Given the description of an element on the screen output the (x, y) to click on. 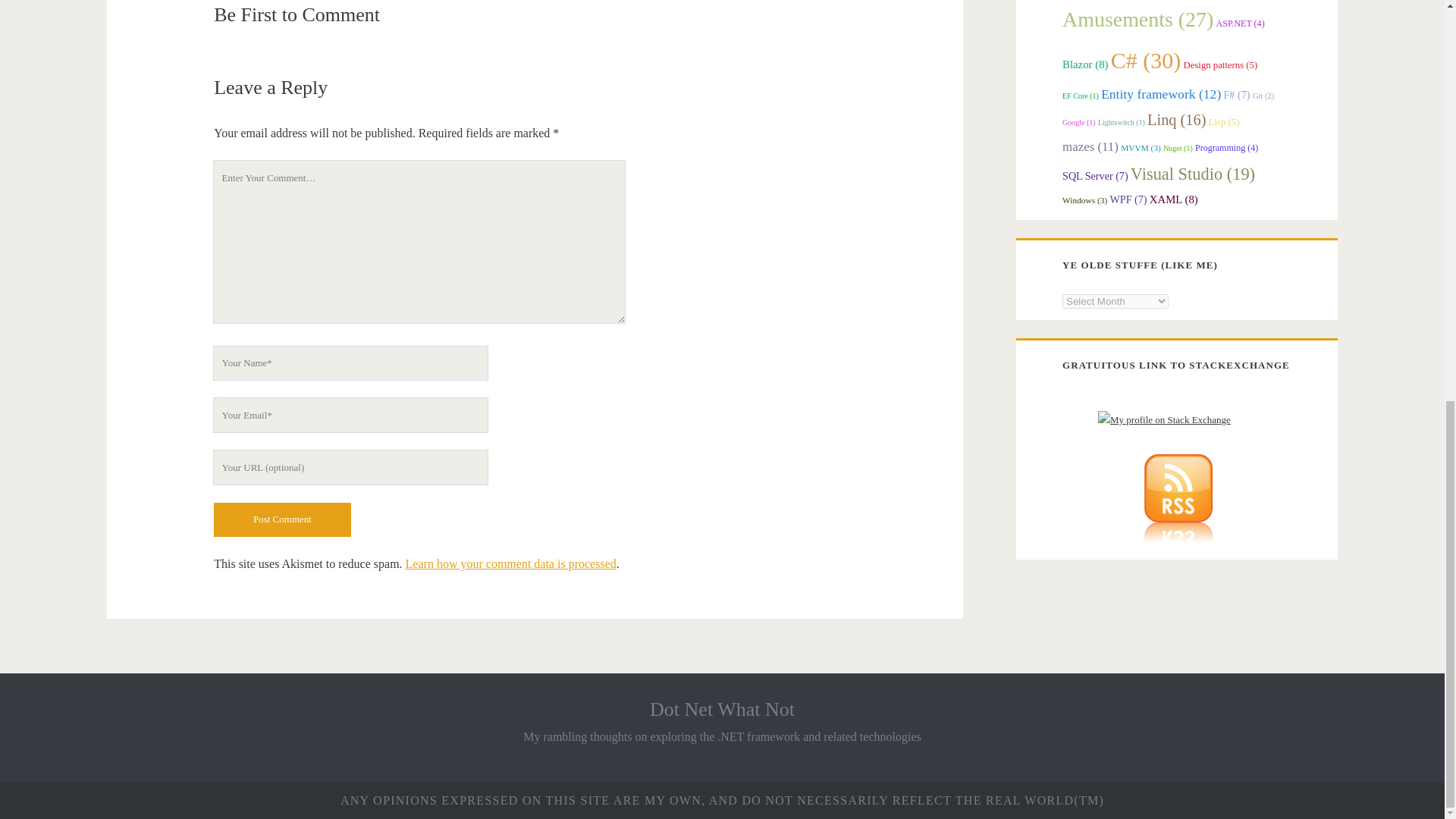
1 topic (1079, 121)
2 topics (1263, 94)
1 topic (1080, 95)
5 topics (1220, 64)
4 topics (1240, 23)
Post Comment (282, 519)
27 topics (1137, 19)
30 topics (1145, 59)
7 topics (1236, 94)
12 topics (1160, 93)
